Given the description of an element on the screen output the (x, y) to click on. 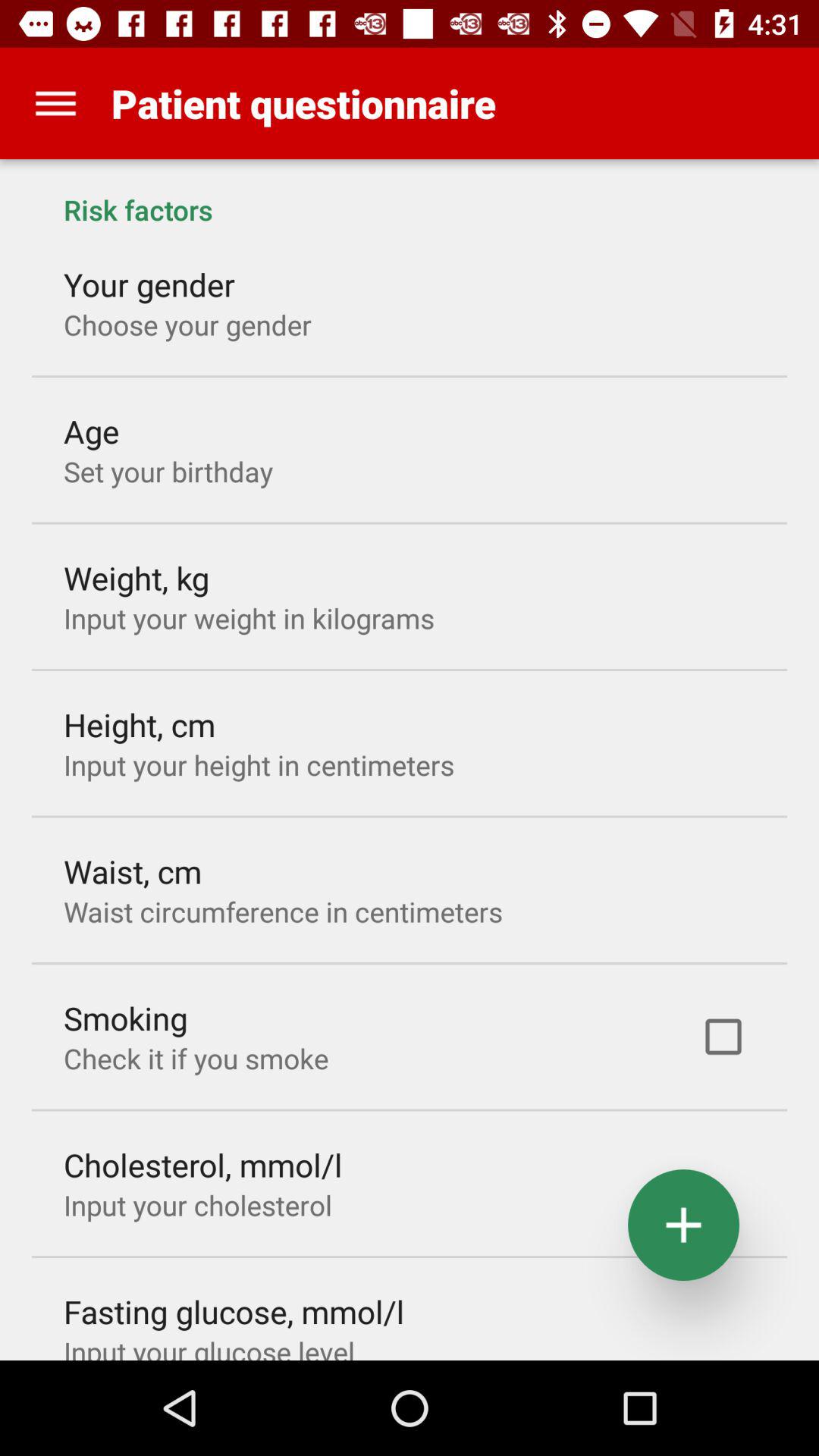
launch the app next to the patient questionnaire (55, 103)
